Given the description of an element on the screen output the (x, y) to click on. 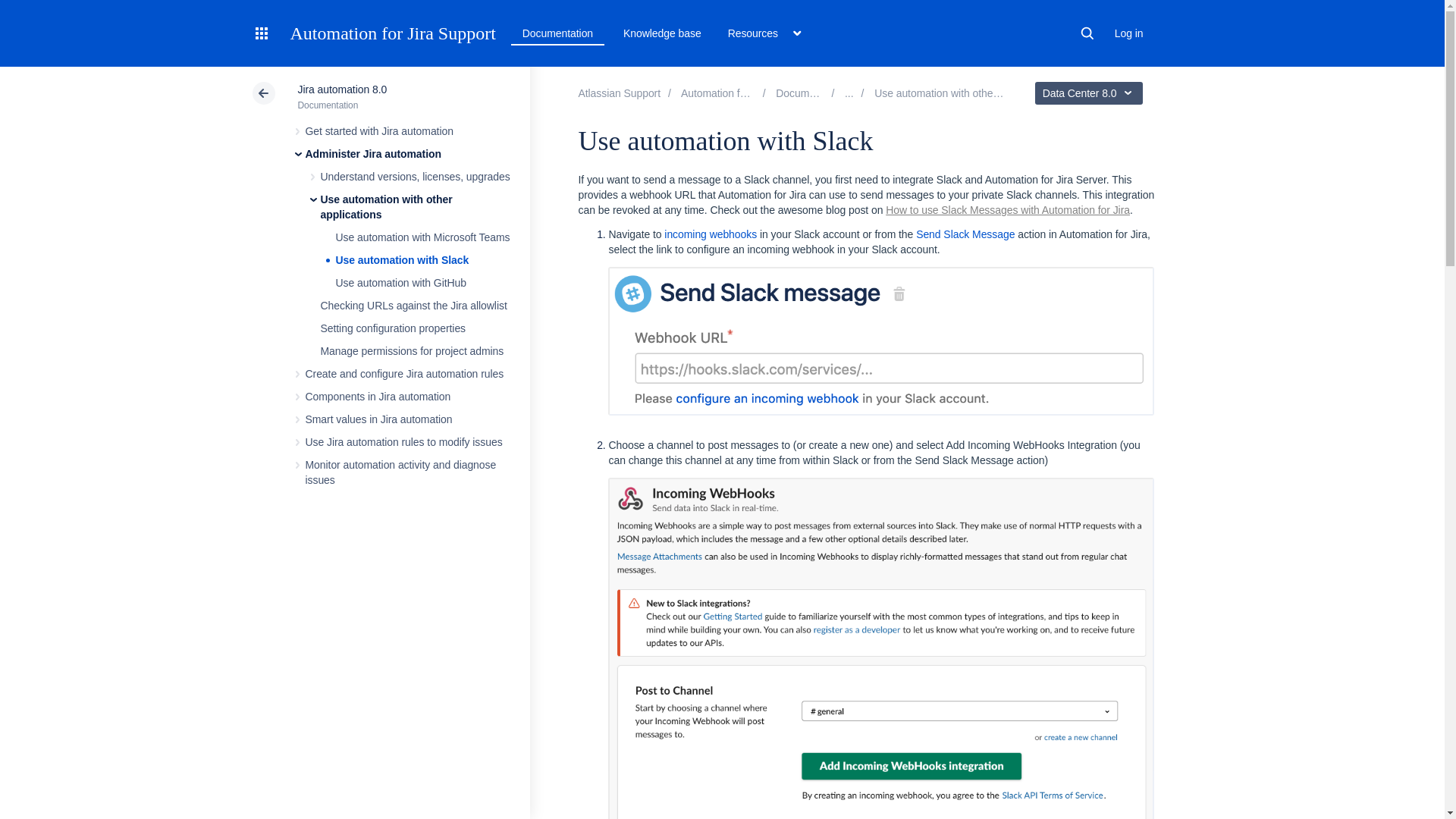
Knowledge base (662, 33)
Search (1087, 33)
Use automation with other applications (964, 92)
Log in (1128, 33)
Automation for Jira (733, 92)
Jira automation 8.0 (810, 92)
Atlassian Support (619, 92)
Documentation (557, 33)
Automation for Jira Support (392, 33)
